Given the description of an element on the screen output the (x, y) to click on. 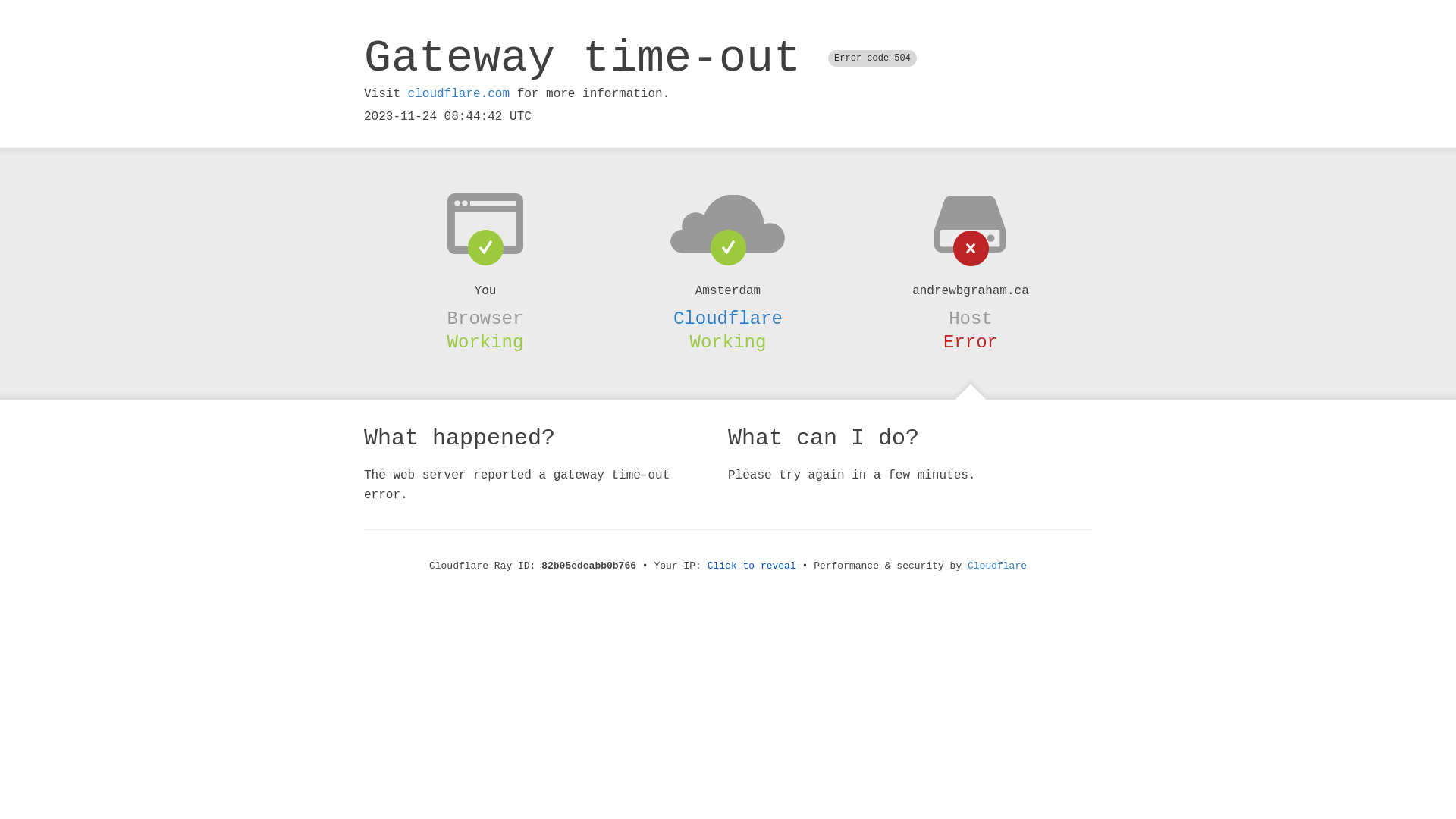
cloudflare.com Element type: text (458, 93)
Click to reveal Element type: text (751, 565)
Cloudflare Element type: text (727, 318)
Cloudflare Element type: text (996, 565)
